Given the description of an element on the screen output the (x, y) to click on. 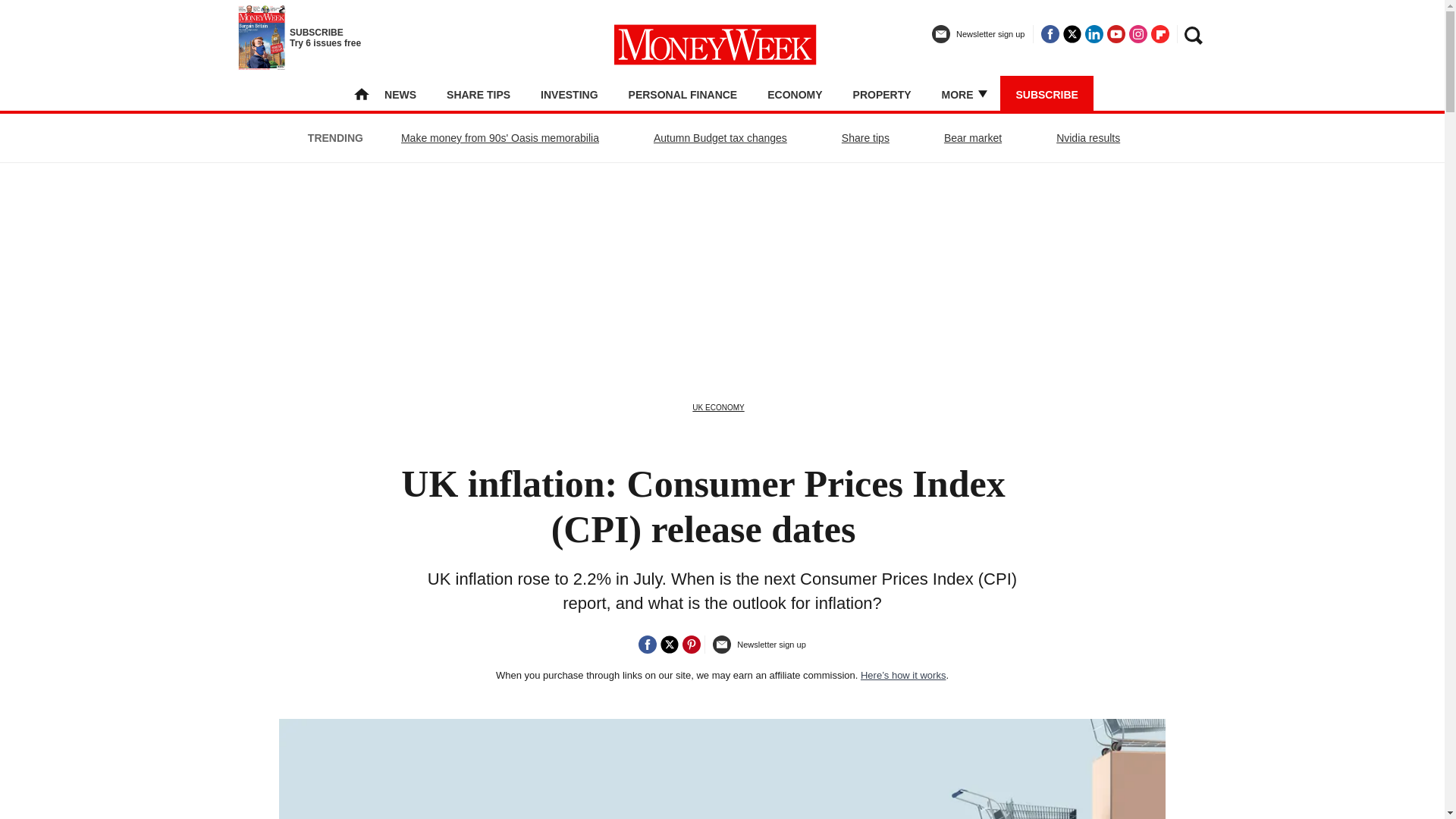
NEWS (400, 94)
SHARE TIPS (478, 94)
INVESTING (568, 94)
Make money from 90s' Oasis memorabilia (500, 137)
PROPERTY (882, 94)
Newsletter sign up (978, 40)
ECONOMY (794, 94)
PERSONAL FINANCE (683, 94)
Autumn Budget tax changes (719, 137)
Share tips (865, 137)
